Given the description of an element on the screen output the (x, y) to click on. 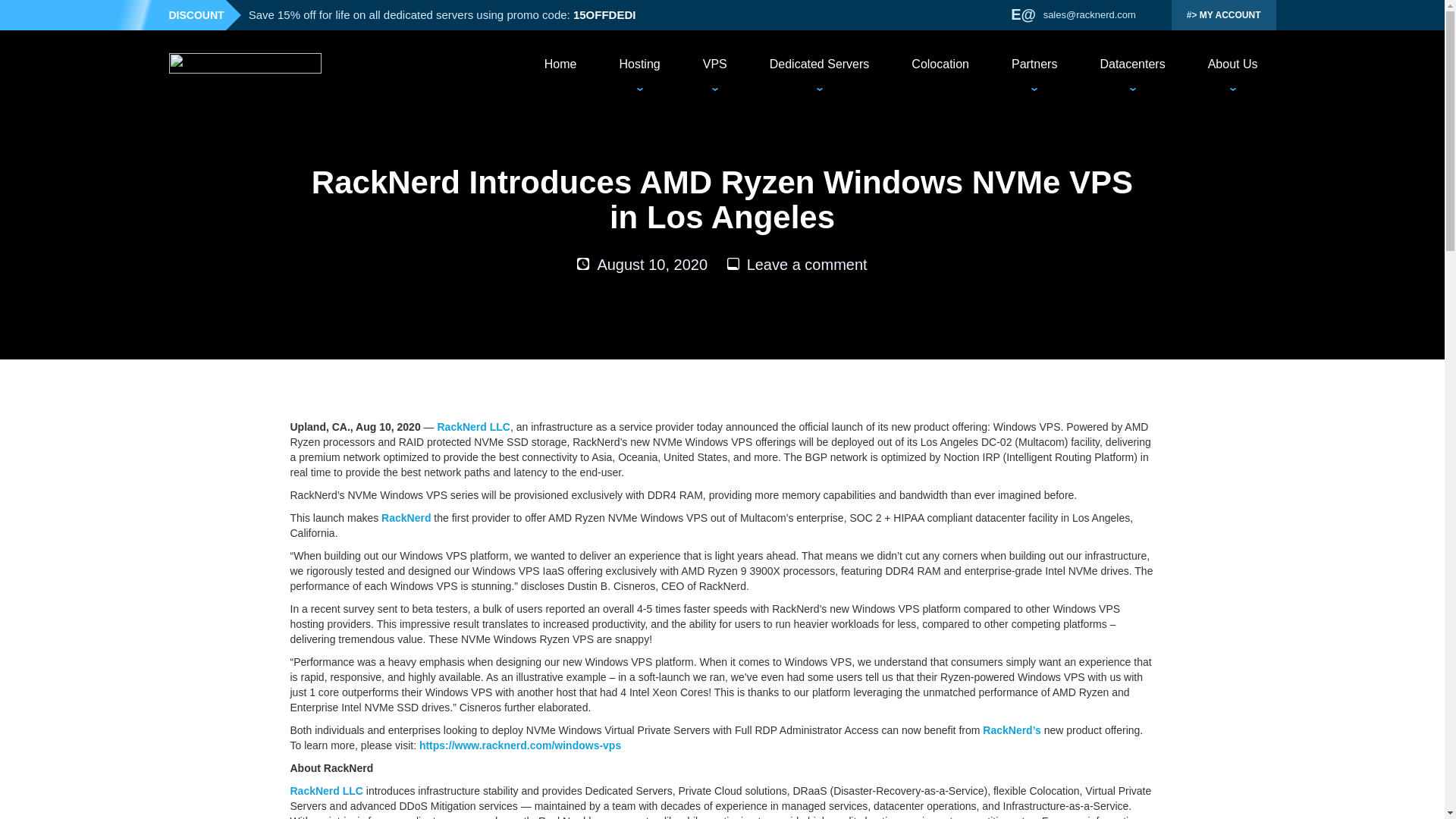
MY ACCOUNT (1224, 15)
VPS (714, 63)
About Us (1232, 63)
Datacenters (1131, 63)
August 10, 2020 (651, 264)
Hosting (638, 63)
Home (560, 63)
Partners (1033, 63)
Dedicated Servers (819, 63)
Dedicated Servers (819, 63)
